Given the description of an element on the screen output the (x, y) to click on. 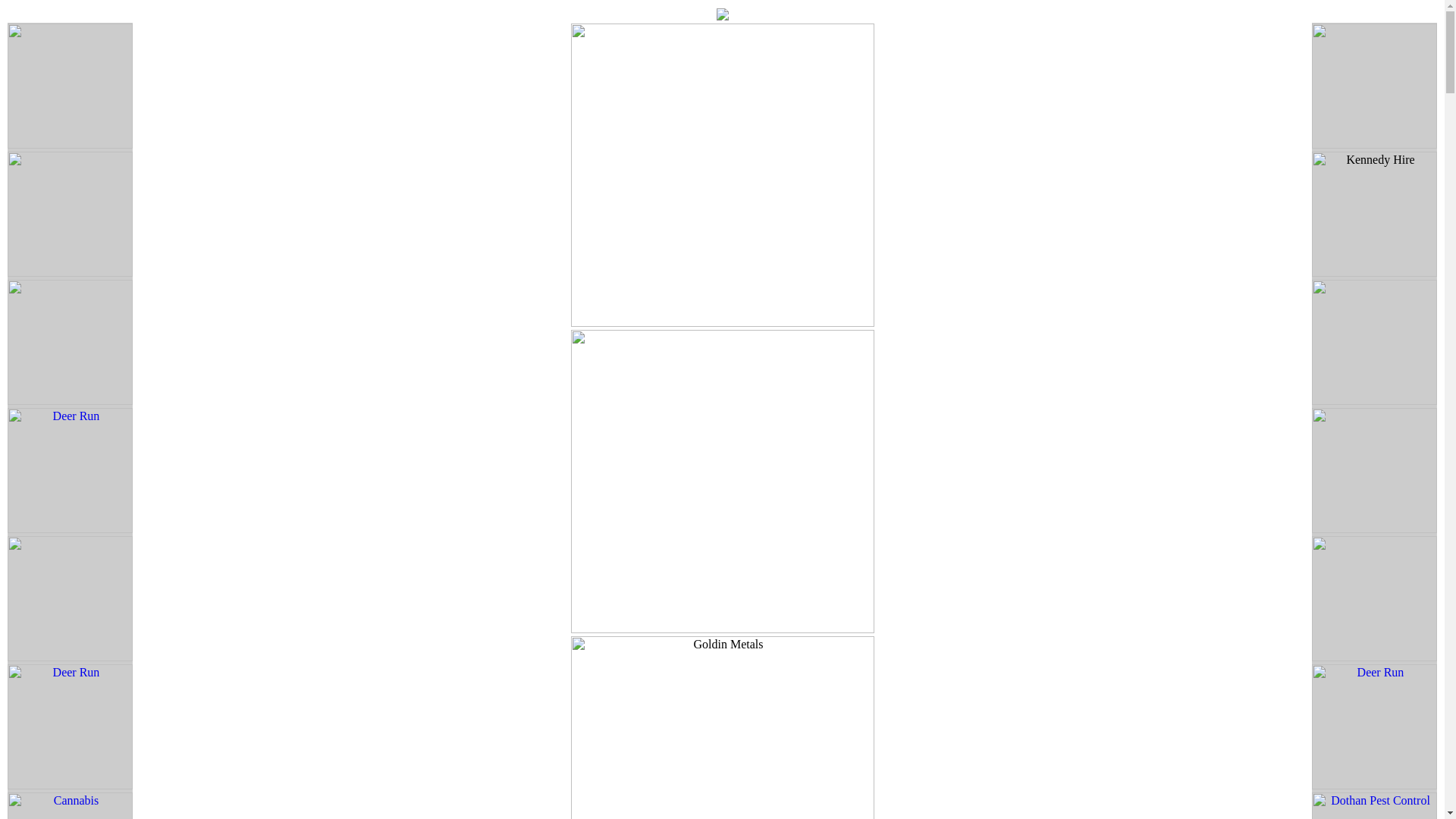
Deer Run (69, 728)
RickeyStokesNews.com - Sharing Local News With Friends (722, 15)
Deer Run (69, 471)
Cannabis (69, 805)
